Given the description of an element on the screen output the (x, y) to click on. 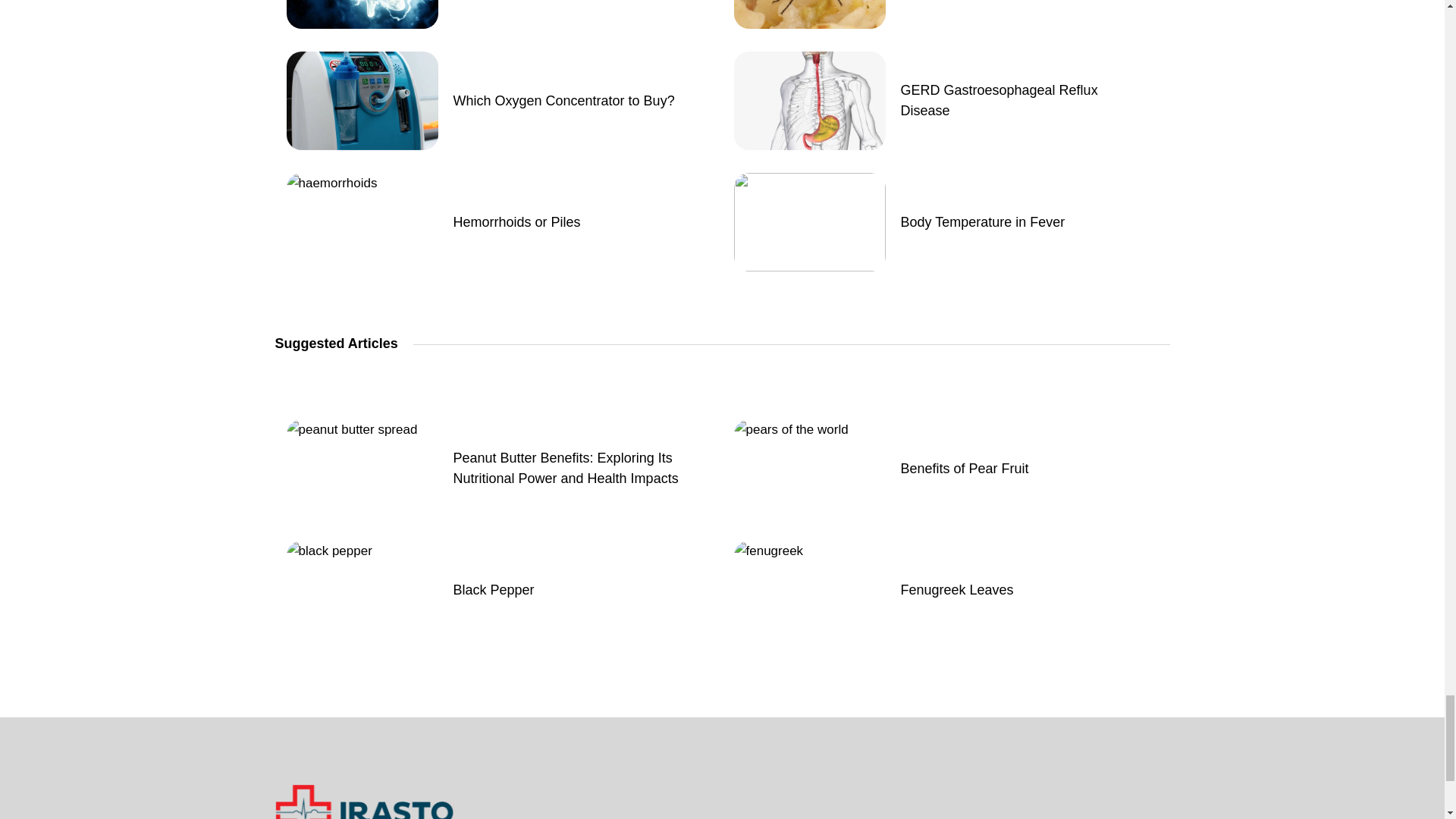
Irasto-logo (363, 801)
Which Oxygen Concentrator to Buy? (563, 100)
Hemorrhoids or Piles (516, 222)
GERD Gastroesophageal Reflux Disease (1021, 100)
